Given the description of an element on the screen output the (x, y) to click on. 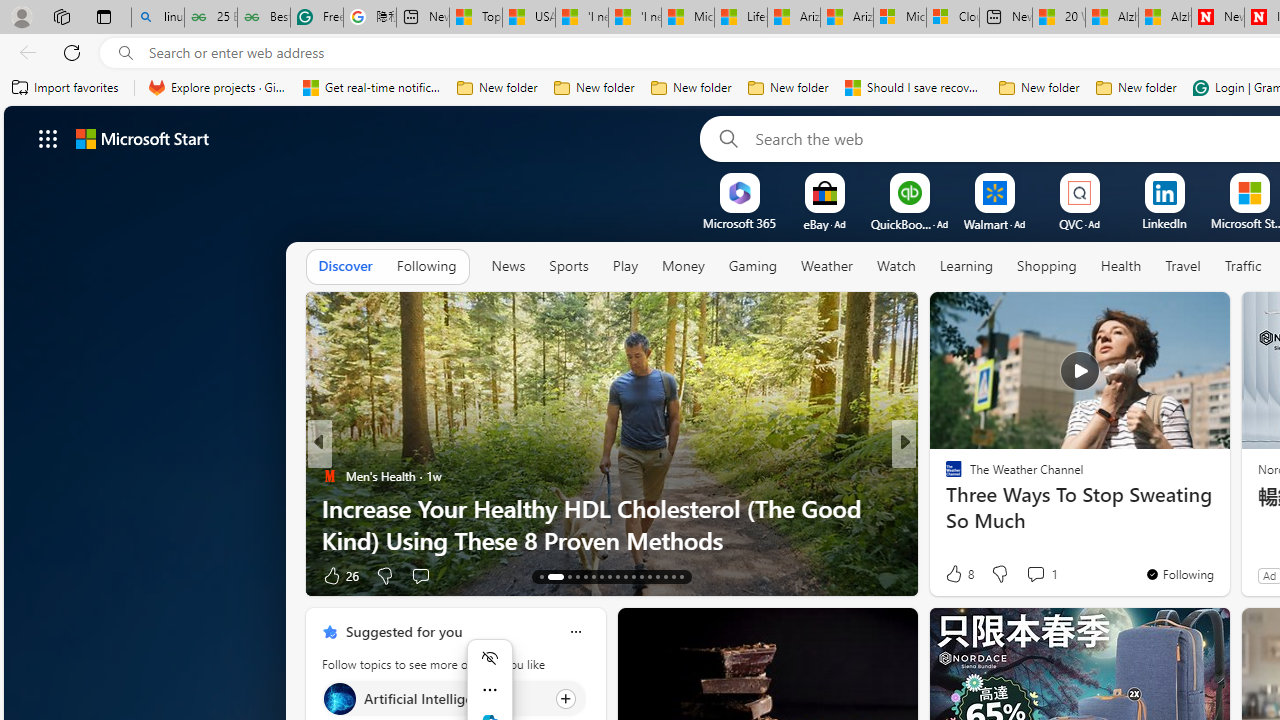
Best SSL Certificates Provider in India - GeeksforGeeks (264, 17)
linux basic - Search (157, 17)
View comments 3 Comment (1048, 574)
Learning (966, 267)
The Independent (944, 475)
AutomationID: tab-21 (617, 576)
Class: icon-img (575, 632)
View comments 10 Comment (1042, 575)
Health (1121, 267)
Lifestyle - MSN (740, 17)
